Given the description of an element on the screen output the (x, y) to click on. 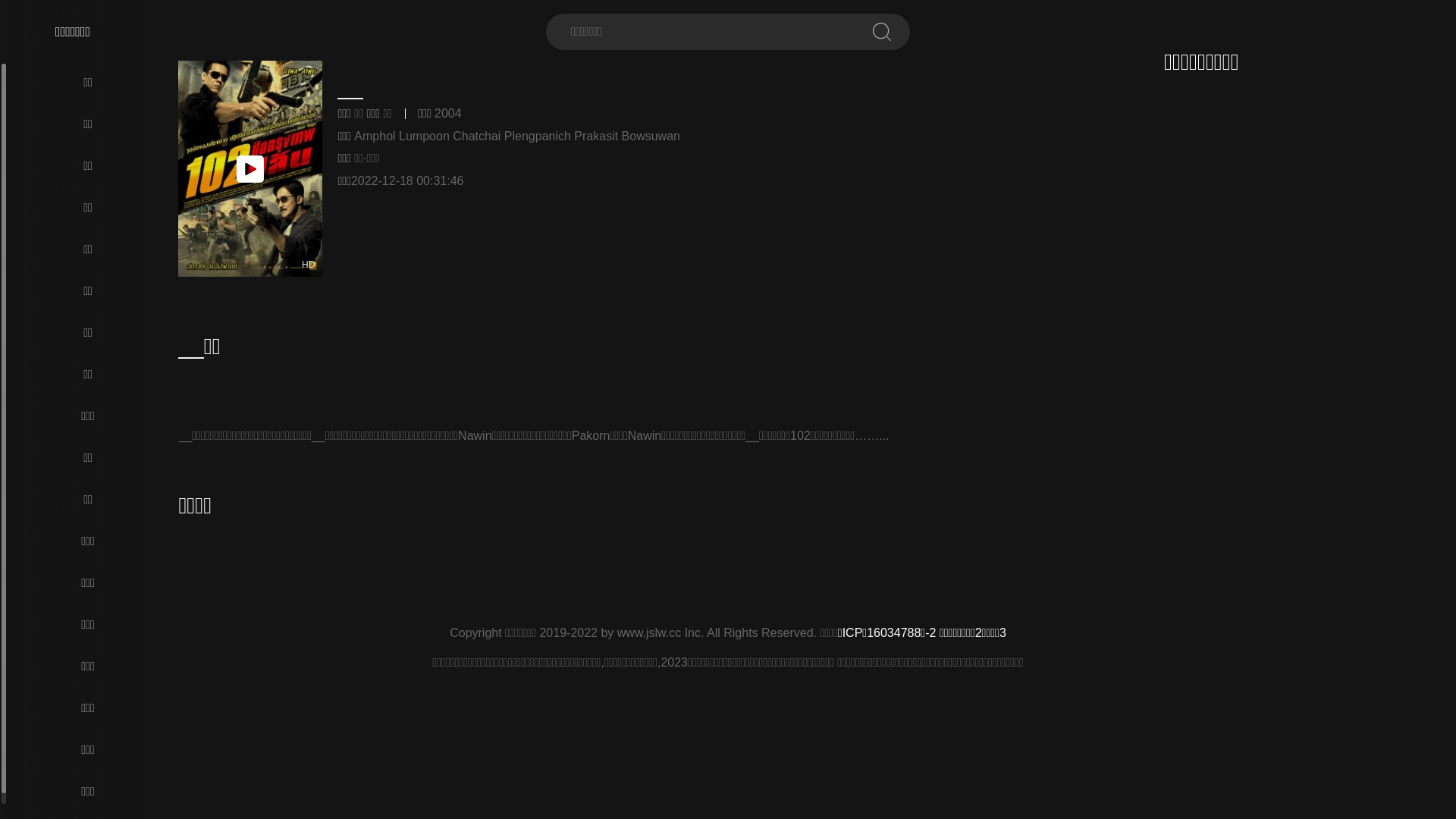
HD Element type: text (250, 168)
